Given the description of an element on the screen output the (x, y) to click on. 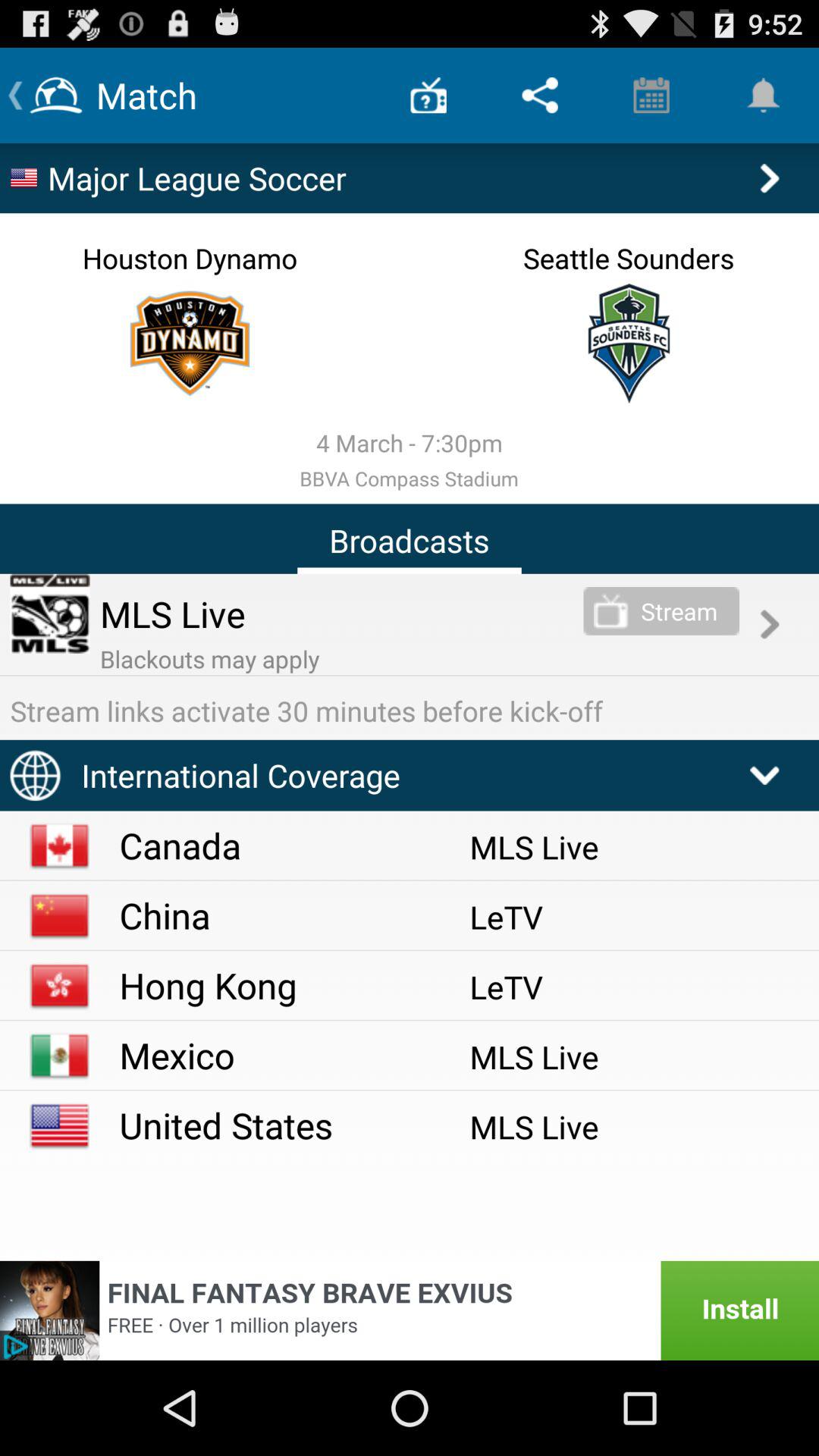
select item above major league soccer app (651, 95)
